Given the description of an element on the screen output the (x, y) to click on. 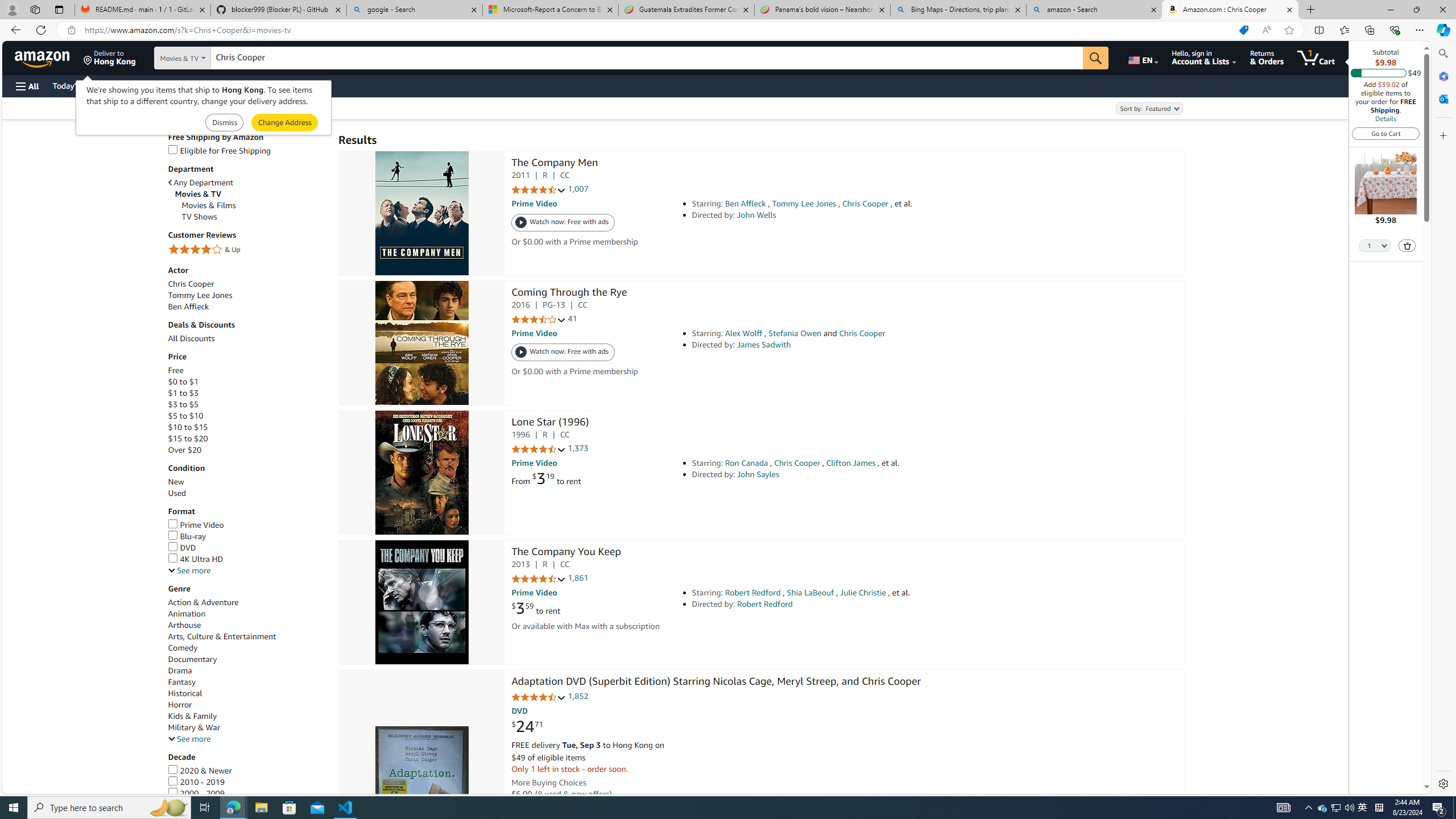
Julie Christie (863, 592)
Sort by: (1148, 108)
James Sadwith (763, 344)
Movies & Films (254, 205)
2010 - 2019 (247, 782)
New (247, 481)
1,007 (577, 189)
